Given the description of an element on the screen output the (x, y) to click on. 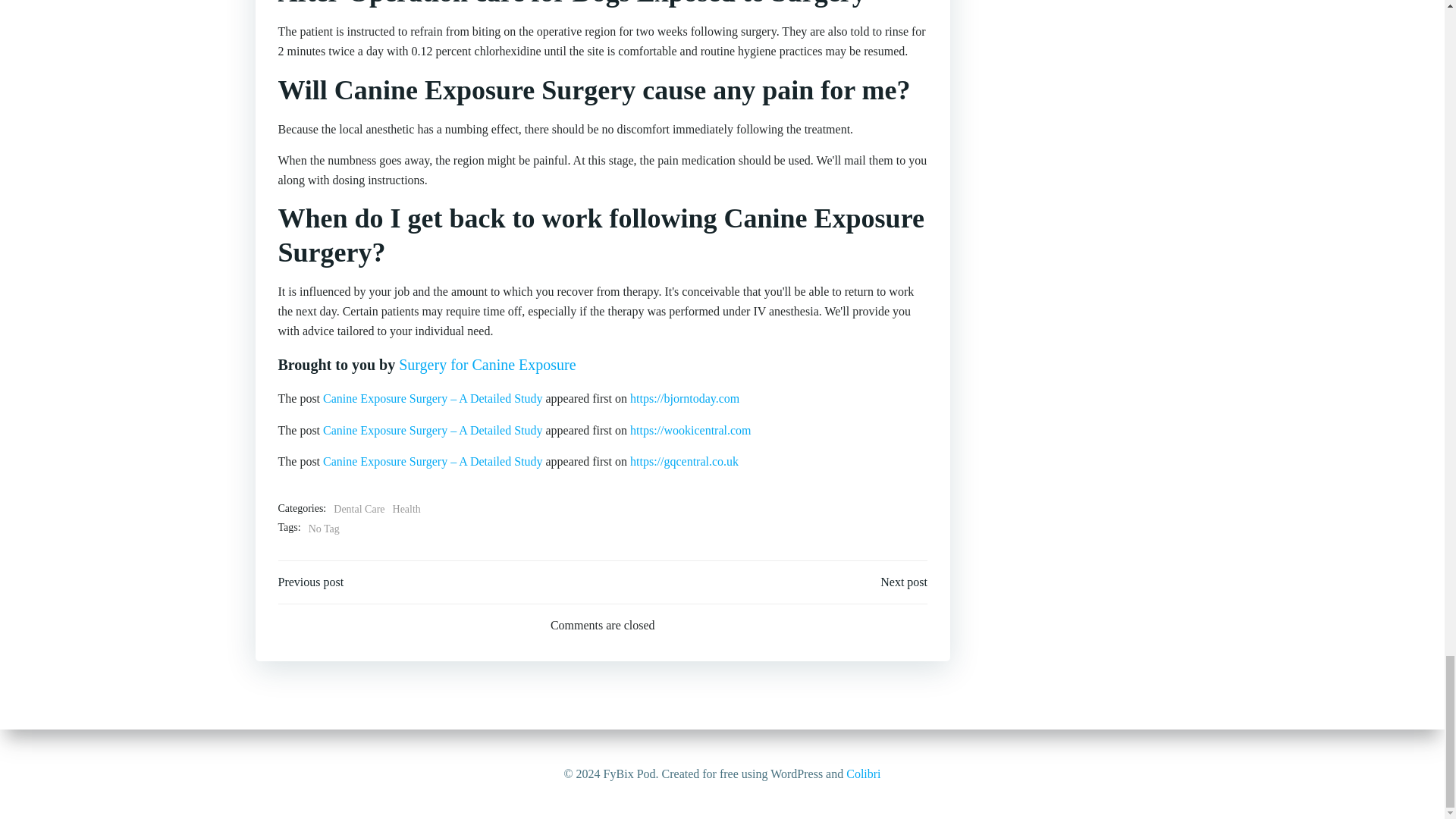
Surgery for Canine Exposure (486, 364)
Previous post (310, 582)
Health (406, 509)
Dental Care (358, 509)
Next post (903, 582)
